Given the description of an element on the screen output the (x, y) to click on. 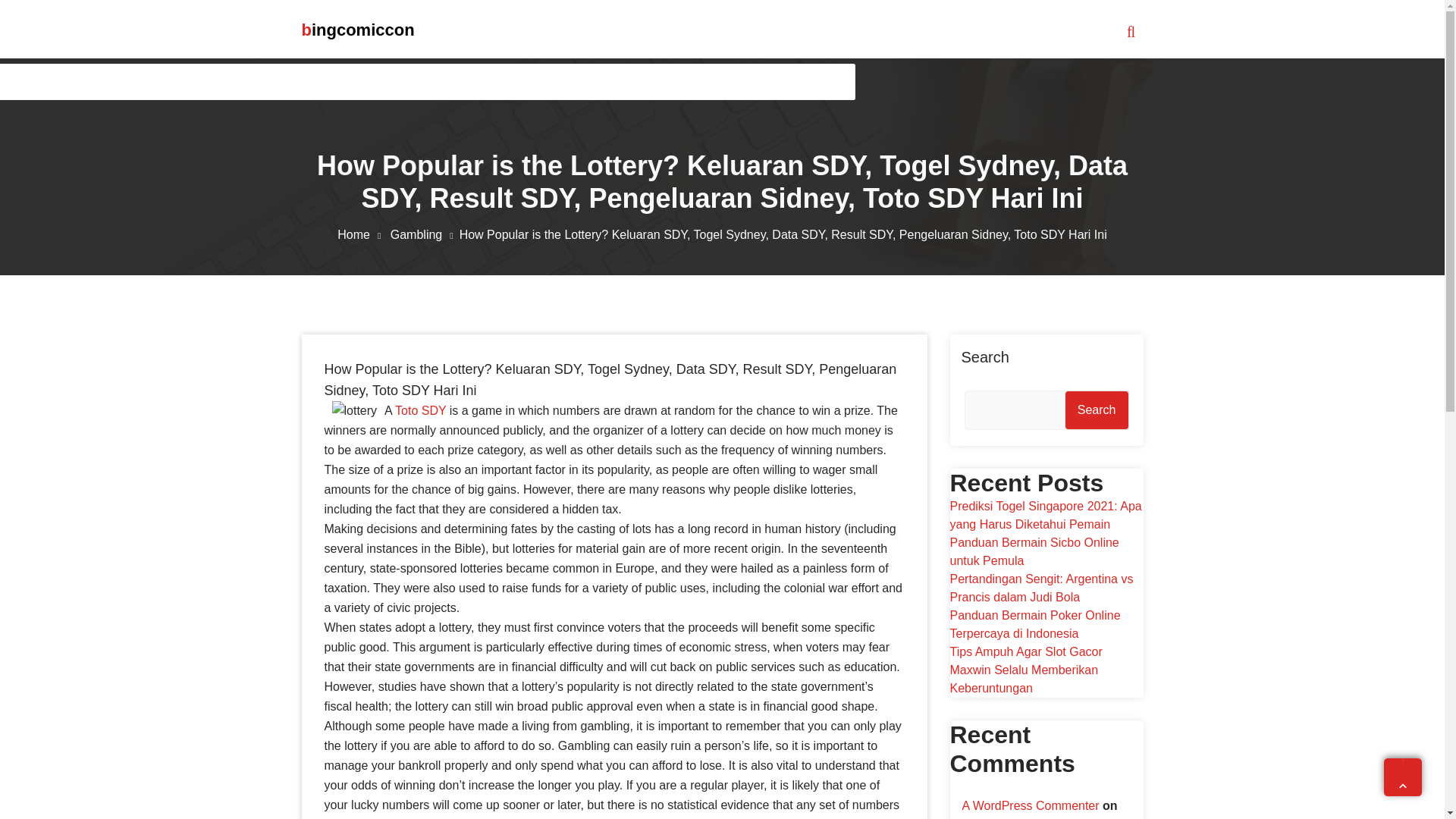
Panduan Bermain Sicbo Online untuk Pemula (1033, 551)
Search (1096, 410)
Panduan Bermain Poker Online Terpercaya di Indonesia (1034, 624)
Pertandingan Sengit: Argentina vs Prancis dalam Judi Bola (1040, 587)
A WordPress Commenter (1029, 805)
Toto SDY (419, 410)
Hello world! (992, 818)
Gambling (425, 234)
